Given the description of an element on the screen output the (x, y) to click on. 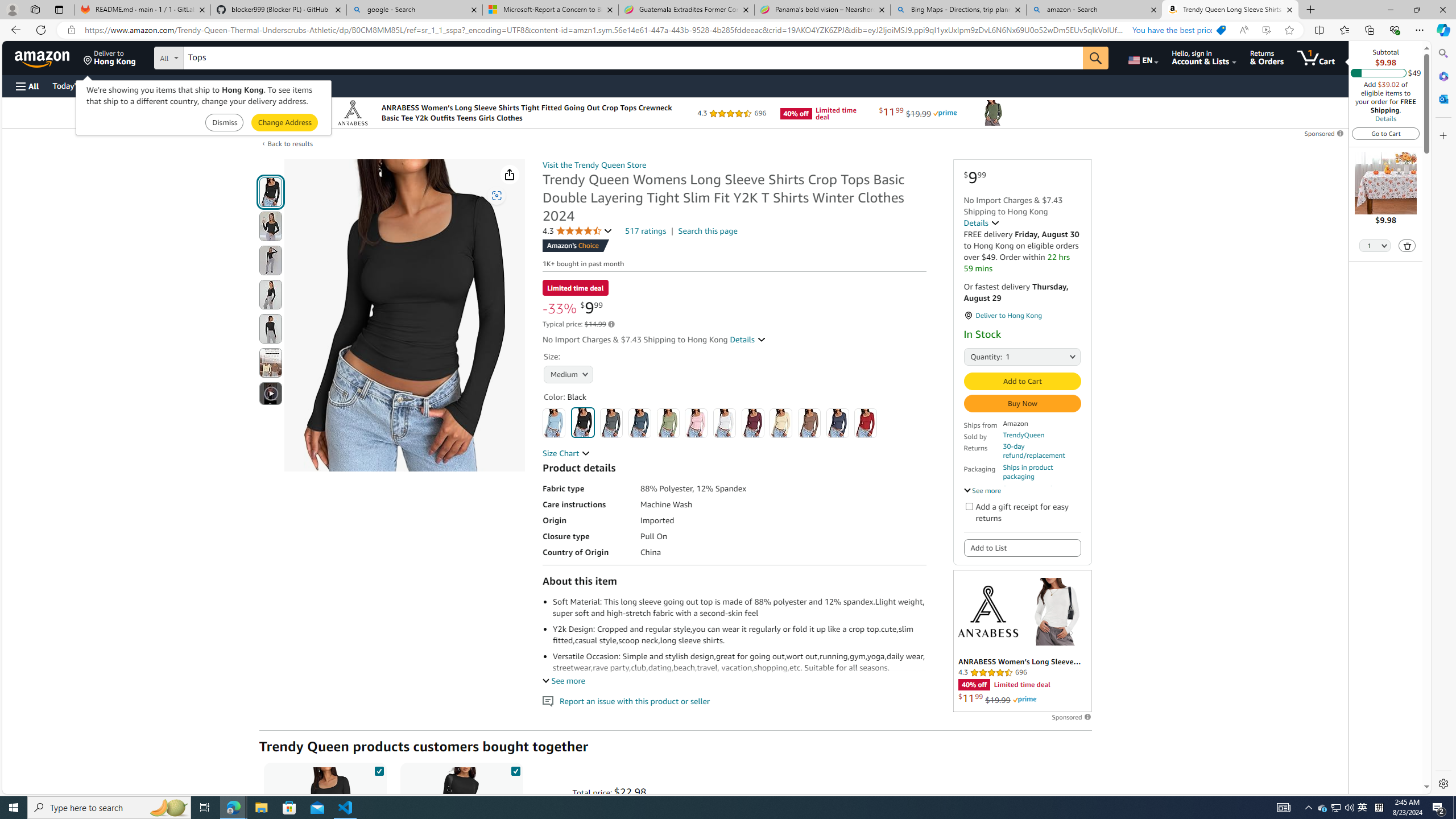
Deliver to Hong Kong (109, 57)
AutomationID: thematicBundleCheck-1 (379, 768)
Submit (284, 122)
Baby Blue (553, 422)
amazon - Search (1094, 9)
Baby Blue (553, 422)
Red (865, 422)
AutomationID: thematicBundleCheck-2 (515, 768)
Pink (696, 422)
Visit the Trendy Queen Store (594, 164)
